Given the description of an element on the screen output the (x, y) to click on. 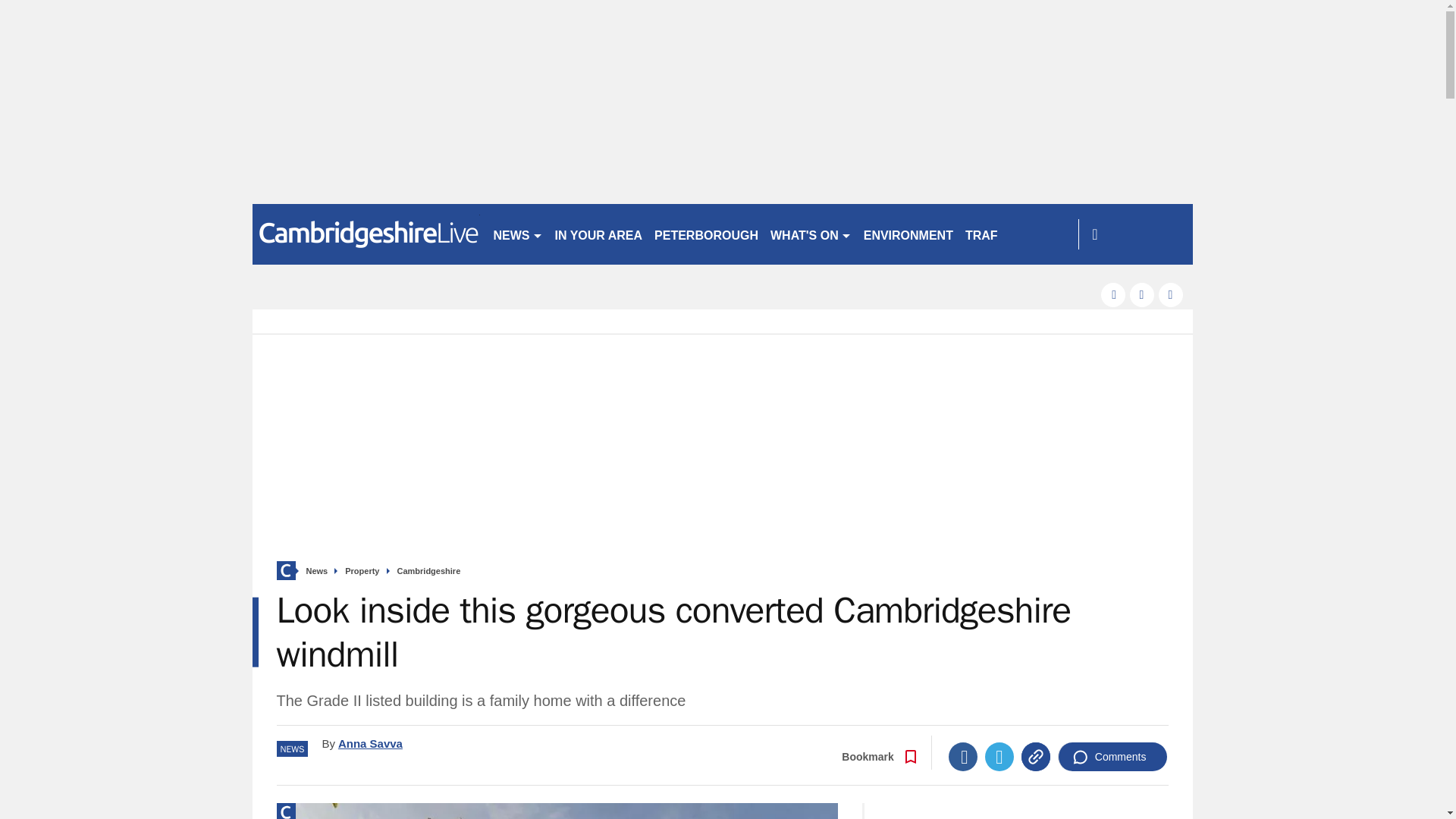
cambridgenews (365, 233)
twitter (1141, 294)
Facebook (962, 756)
IN YOUR AREA (598, 233)
WHAT'S ON (810, 233)
instagram (1170, 294)
PETERBOROUGH (705, 233)
Comments (1112, 756)
Twitter (999, 756)
NEWS (517, 233)
